Given the description of an element on the screen output the (x, y) to click on. 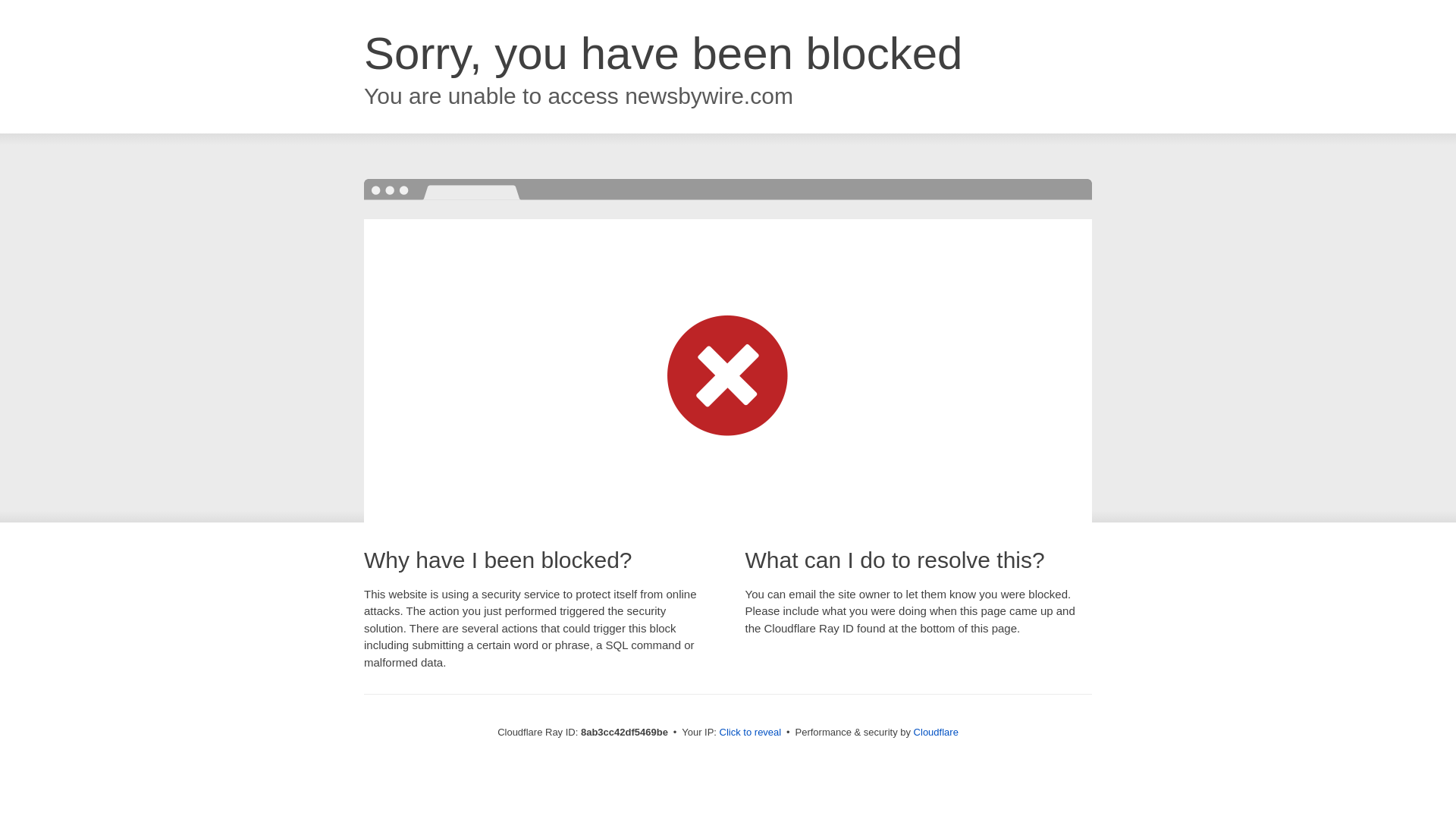
Click to reveal (750, 732)
Cloudflare (936, 731)
